Given the description of an element on the screen output the (x, y) to click on. 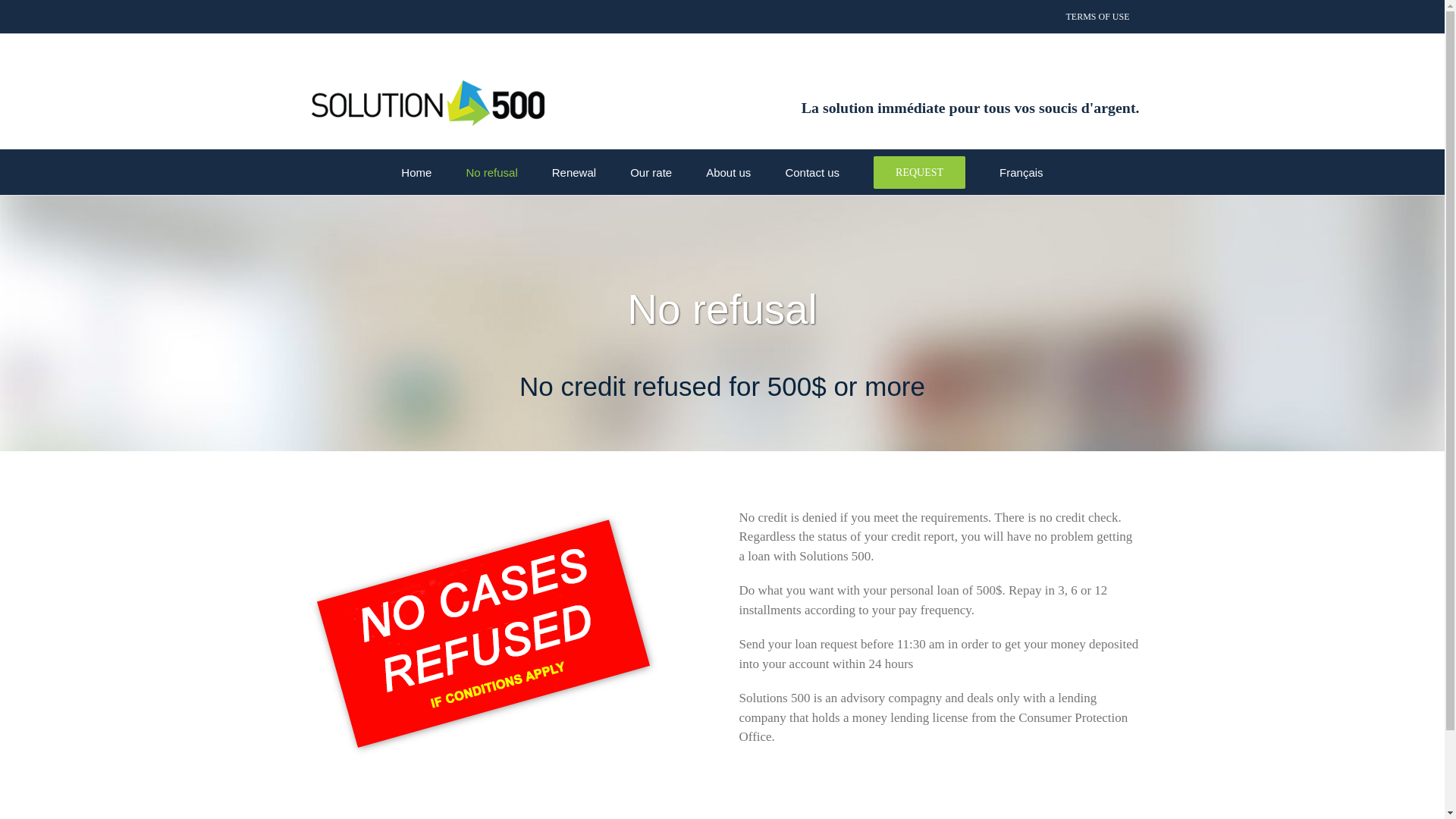
TERMS OF USE (1096, 16)
Our rate (650, 171)
REQUEST (919, 171)
No refusal (490, 171)
About us (728, 171)
Renewal (573, 171)
Contact us (812, 171)
